Given the description of an element on the screen output the (x, y) to click on. 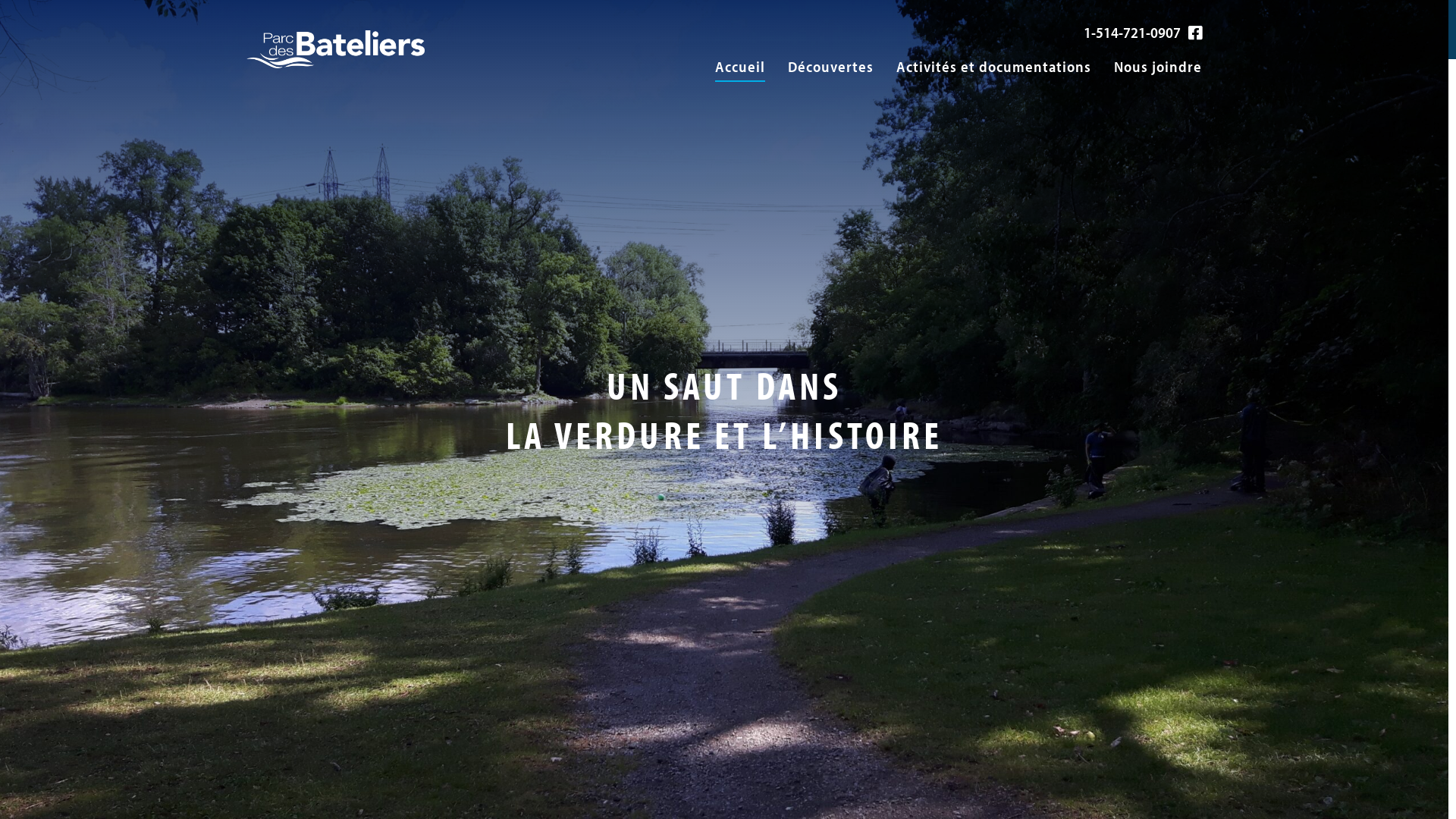
Nous joindre Element type: text (1157, 65)
Accueil Element type: text (740, 65)
1-514-721-0907 Element type: text (1131, 31)
